Given the description of an element on the screen output the (x, y) to click on. 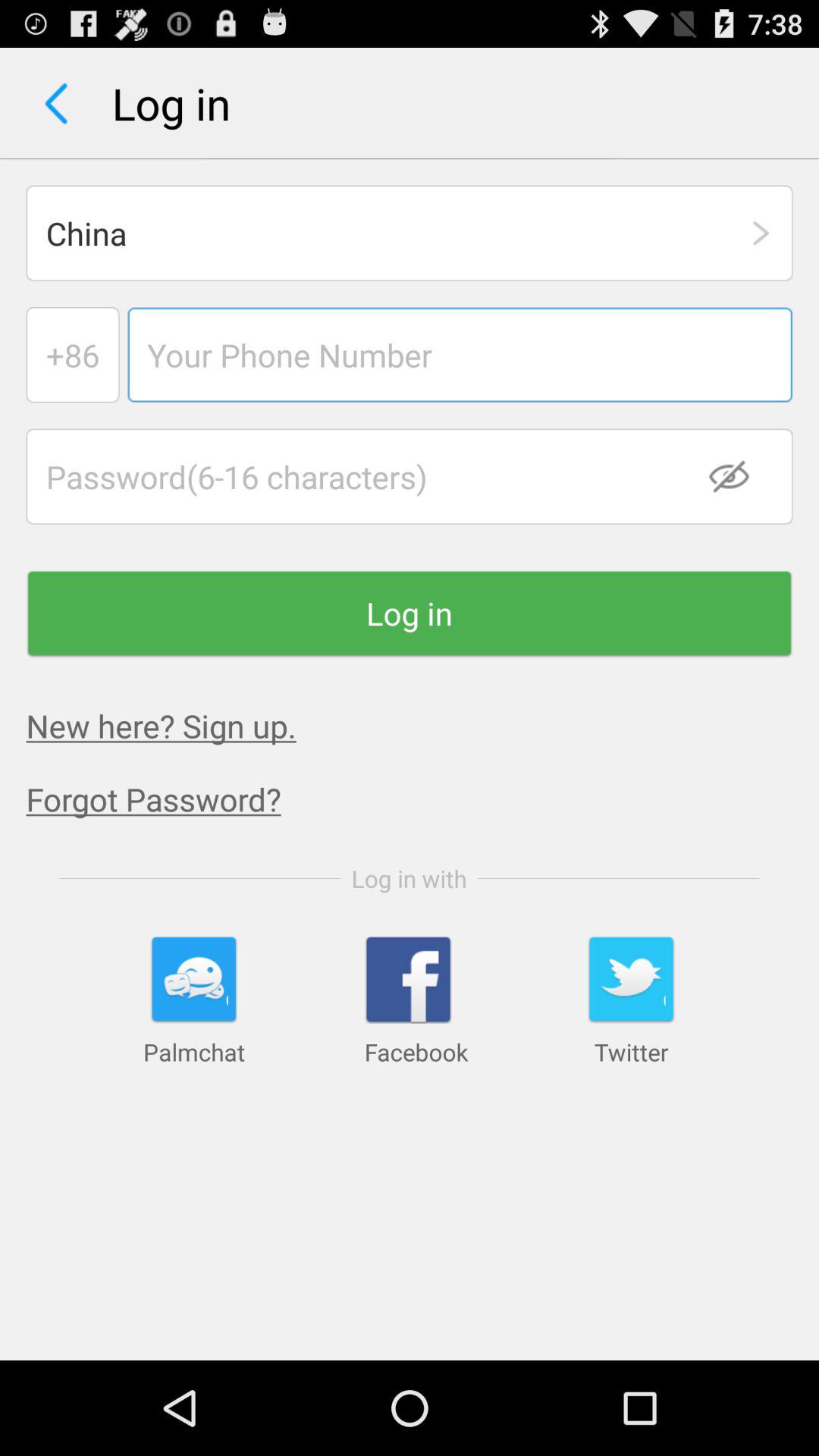
click the checkbox item (738, 476)
